Given the description of an element on the screen output the (x, y) to click on. 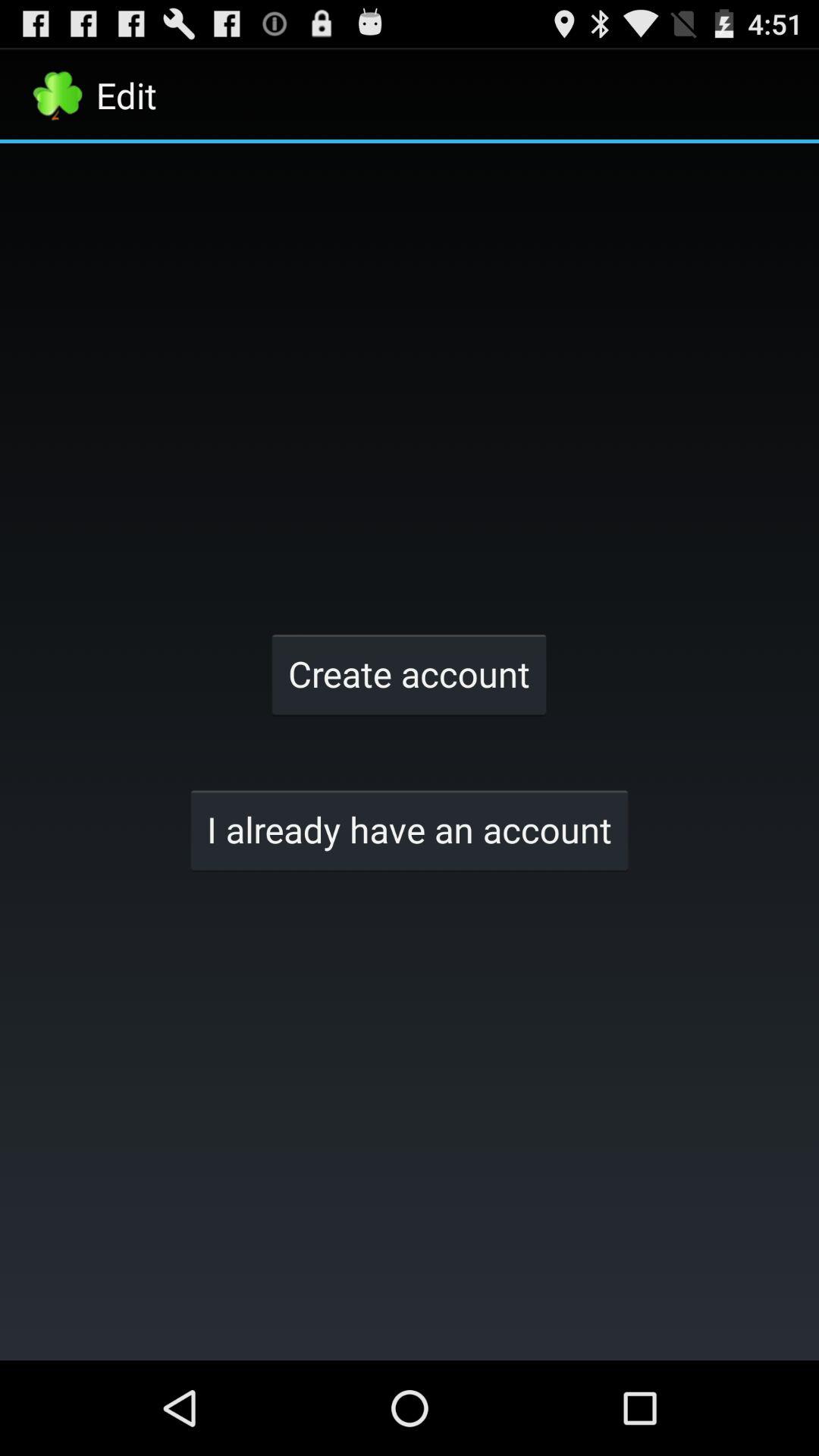
click the icon below the create account icon (409, 829)
